Given the description of an element on the screen output the (x, y) to click on. 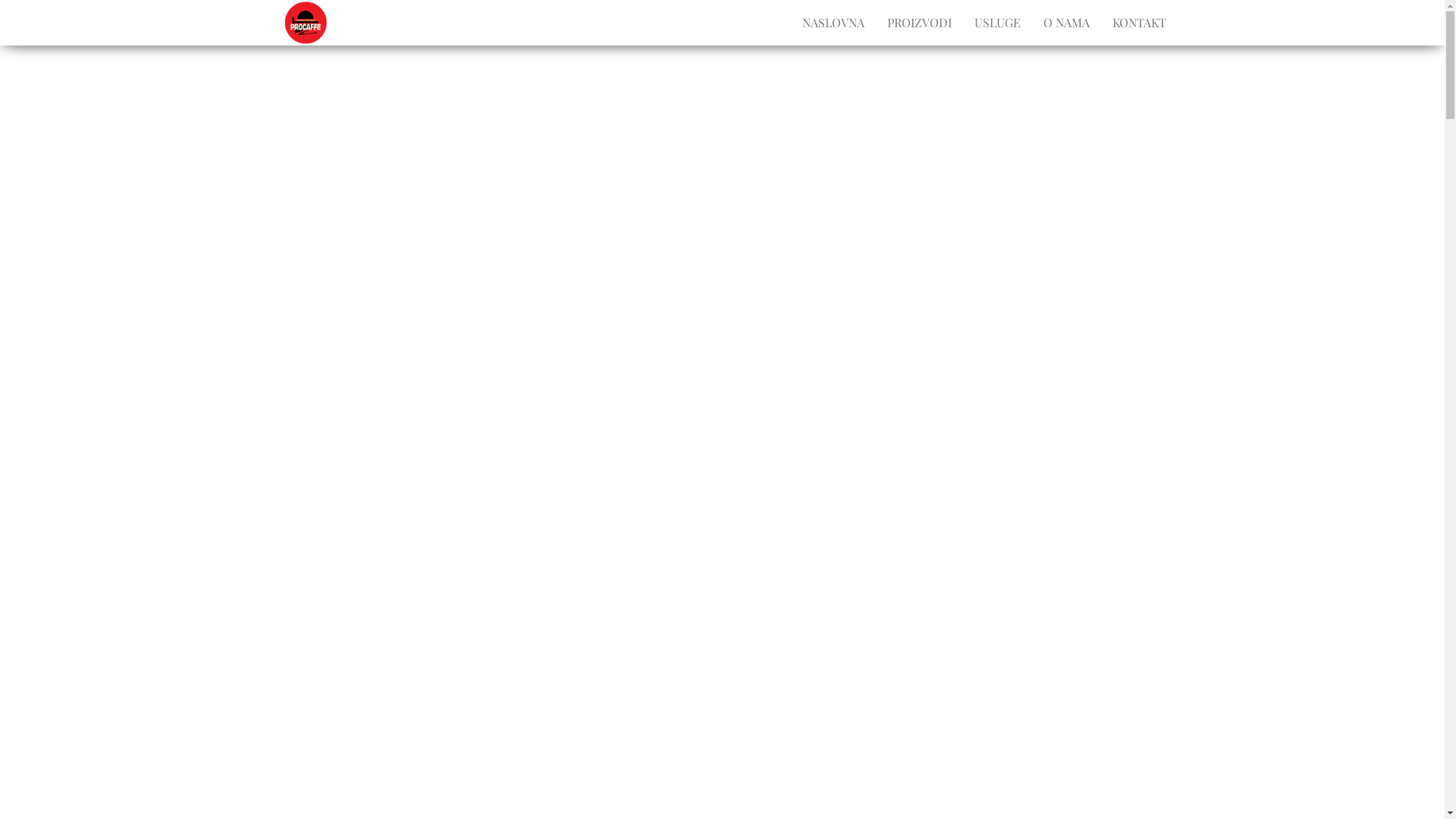
Procaffe d.o.o. Element type: text (370, 25)
KONTAKT Element type: text (1139, 22)
USLUGE Element type: text (997, 22)
PROIZVODI Element type: text (918, 22)
O NAMA Element type: text (1065, 22)
NASLOVNA Element type: text (832, 22)
